Given the description of an element on the screen output the (x, y) to click on. 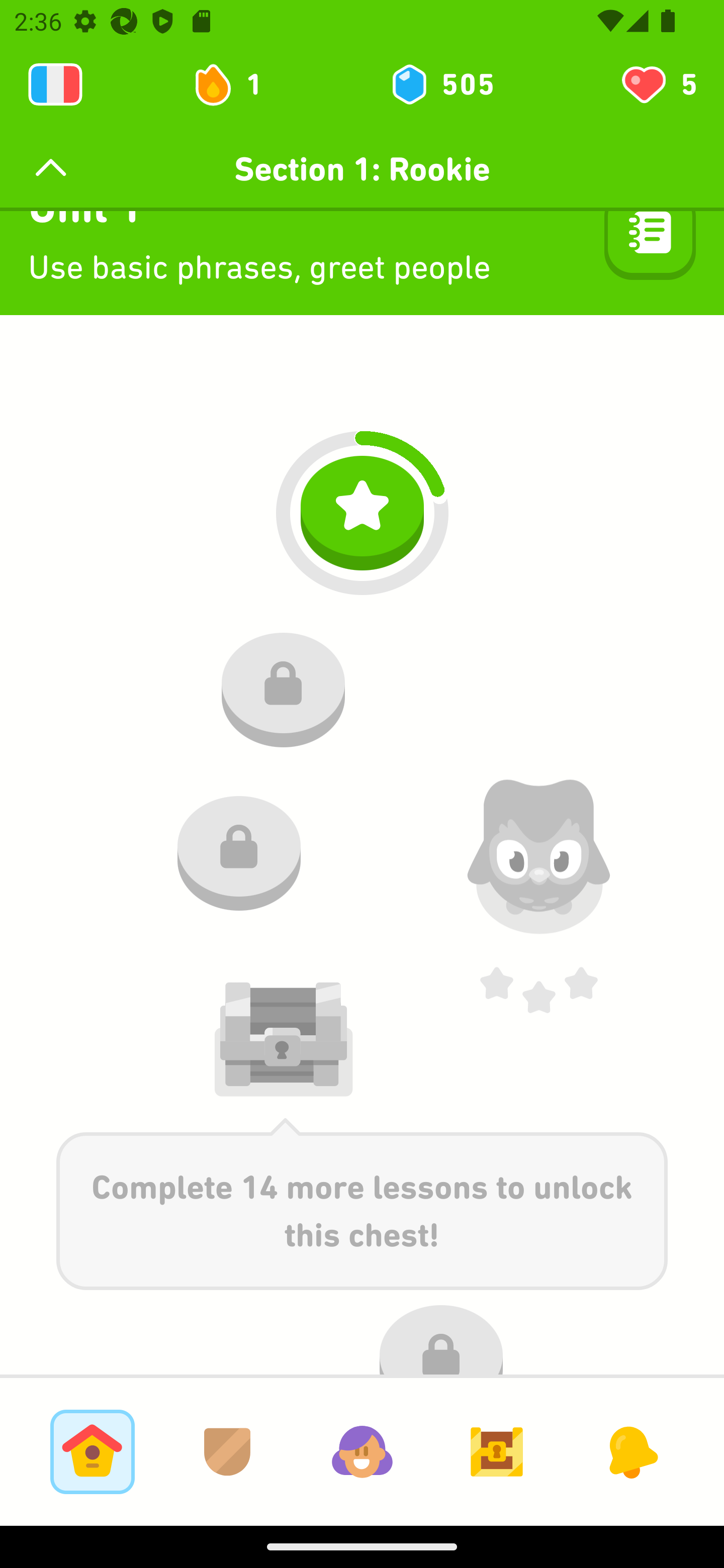
Learning 2131888976 (55, 84)
1 day streak 1 (236, 84)
505 (441, 84)
You have 5 hearts left 5 (657, 84)
Section 1: Rookie (362, 169)
Complete 14 more lessons to unlock this chest! (361, 1203)
Learn Tab (91, 1451)
Leagues Tab (227, 1451)
Profile Tab (361, 1451)
Goals Tab (496, 1451)
News Tab (631, 1451)
